Given the description of an element on the screen output the (x, y) to click on. 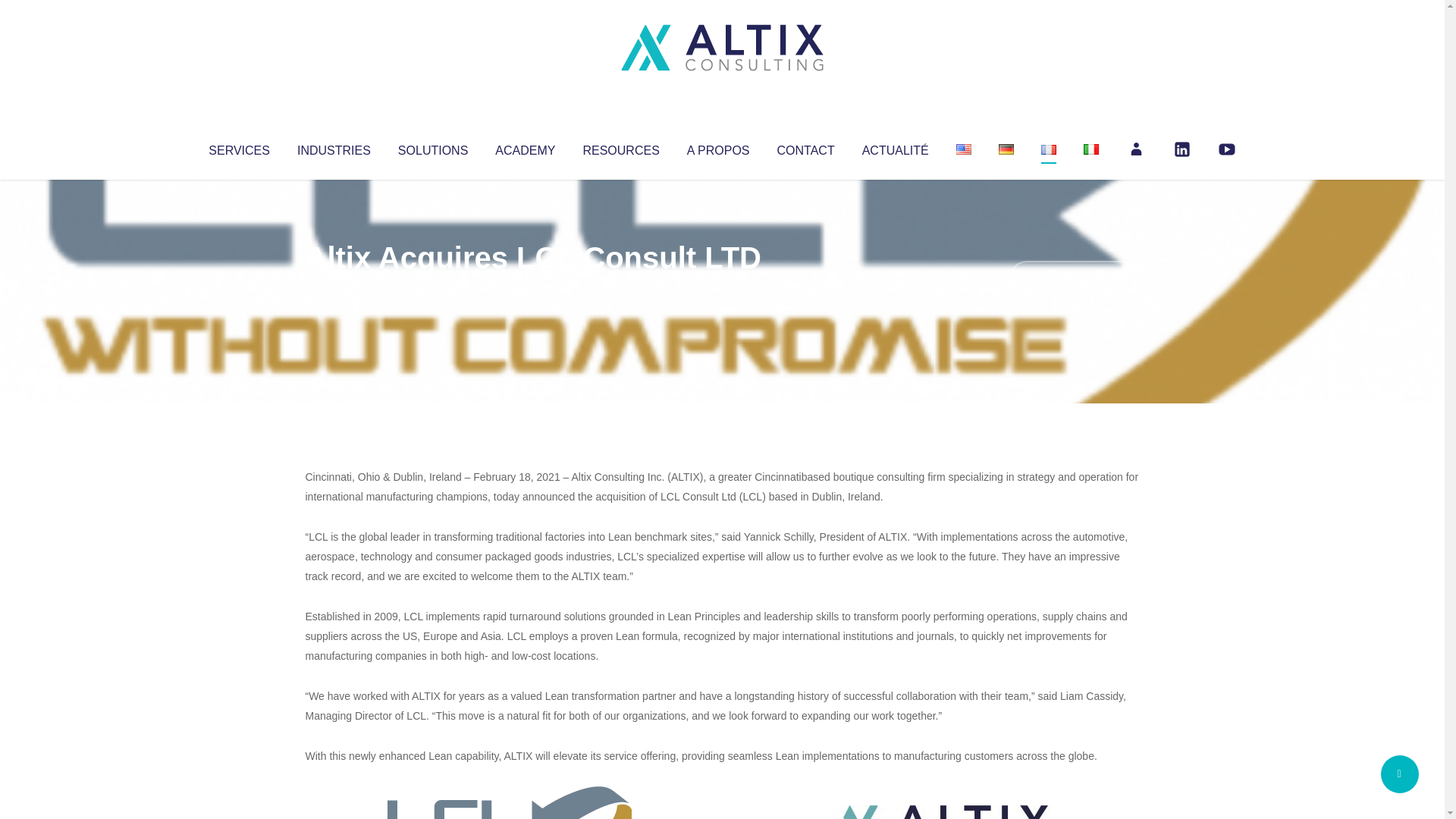
Articles par Altix (333, 287)
No Comments (1073, 278)
Uncategorized (530, 287)
RESOURCES (620, 146)
Altix (333, 287)
SOLUTIONS (432, 146)
ACADEMY (524, 146)
A PROPOS (718, 146)
INDUSTRIES (334, 146)
SERVICES (238, 146)
